Given the description of an element on the screen output the (x, y) to click on. 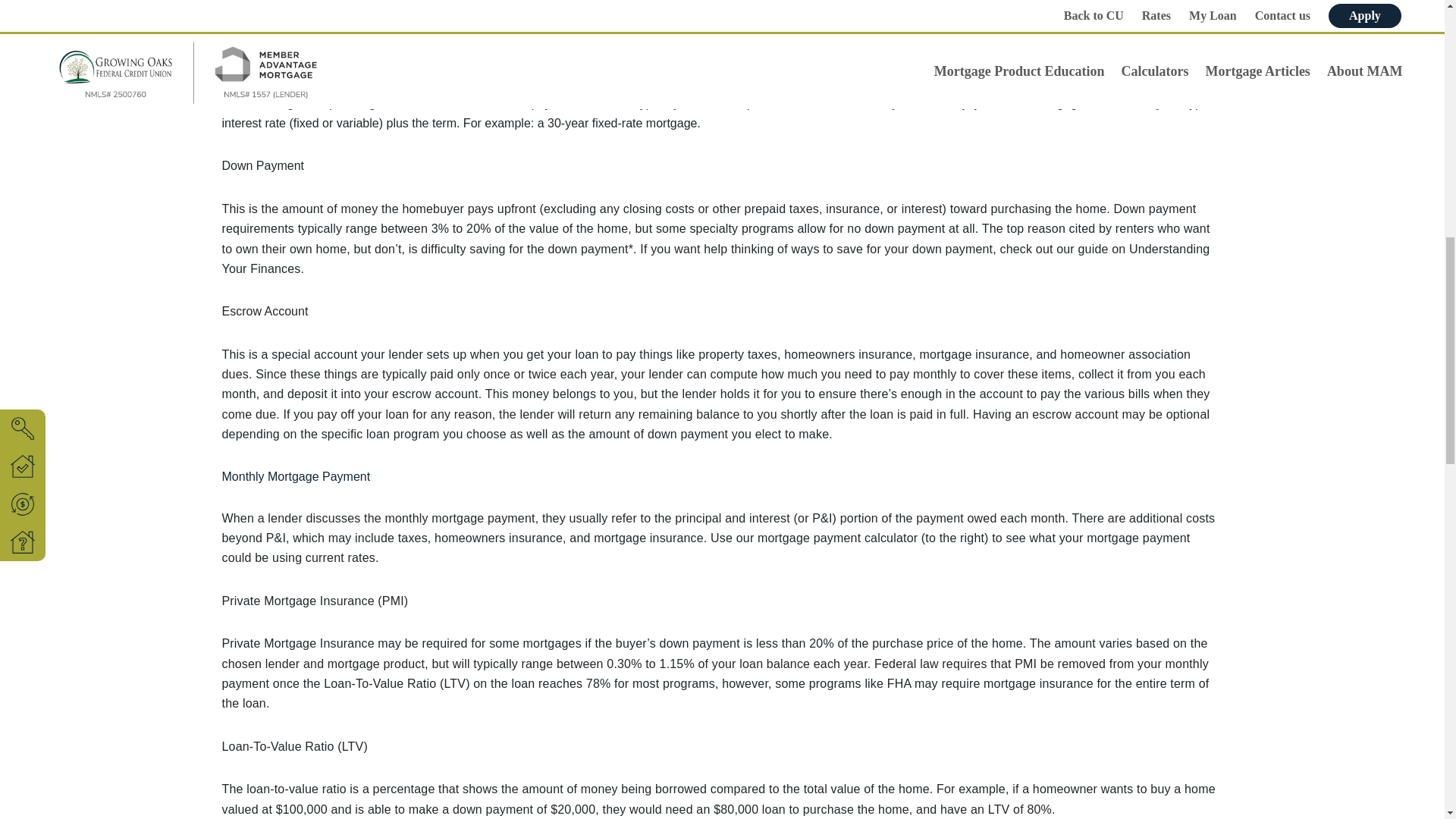
You can learn more about locking in a fixed rate here. (718, 2)
